Given the description of an element on the screen output the (x, y) to click on. 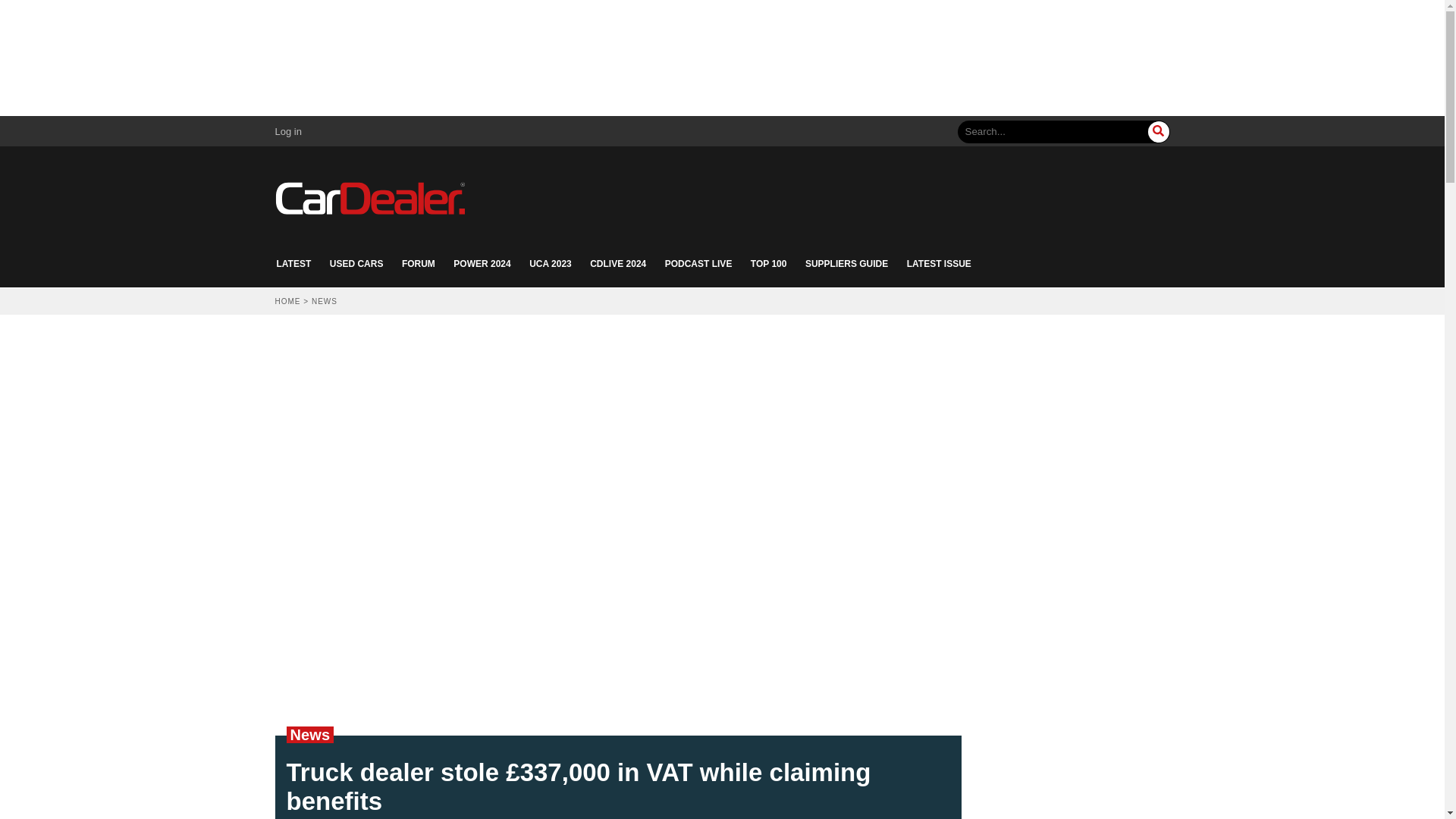
PODCAST LIVE (698, 263)
News (309, 734)
CDLIVE 2024 (617, 263)
POWER 2024 (481, 263)
USED CARS (357, 263)
HOME (287, 301)
NEWS (324, 301)
LATEST ISSUE (939, 263)
SUPPLIERS GUIDE (846, 263)
UCA 2023 (550, 263)
FORUM (418, 263)
Log in (288, 131)
TOP 100 (769, 263)
LATEST (293, 263)
